Given the description of an element on the screen output the (x, y) to click on. 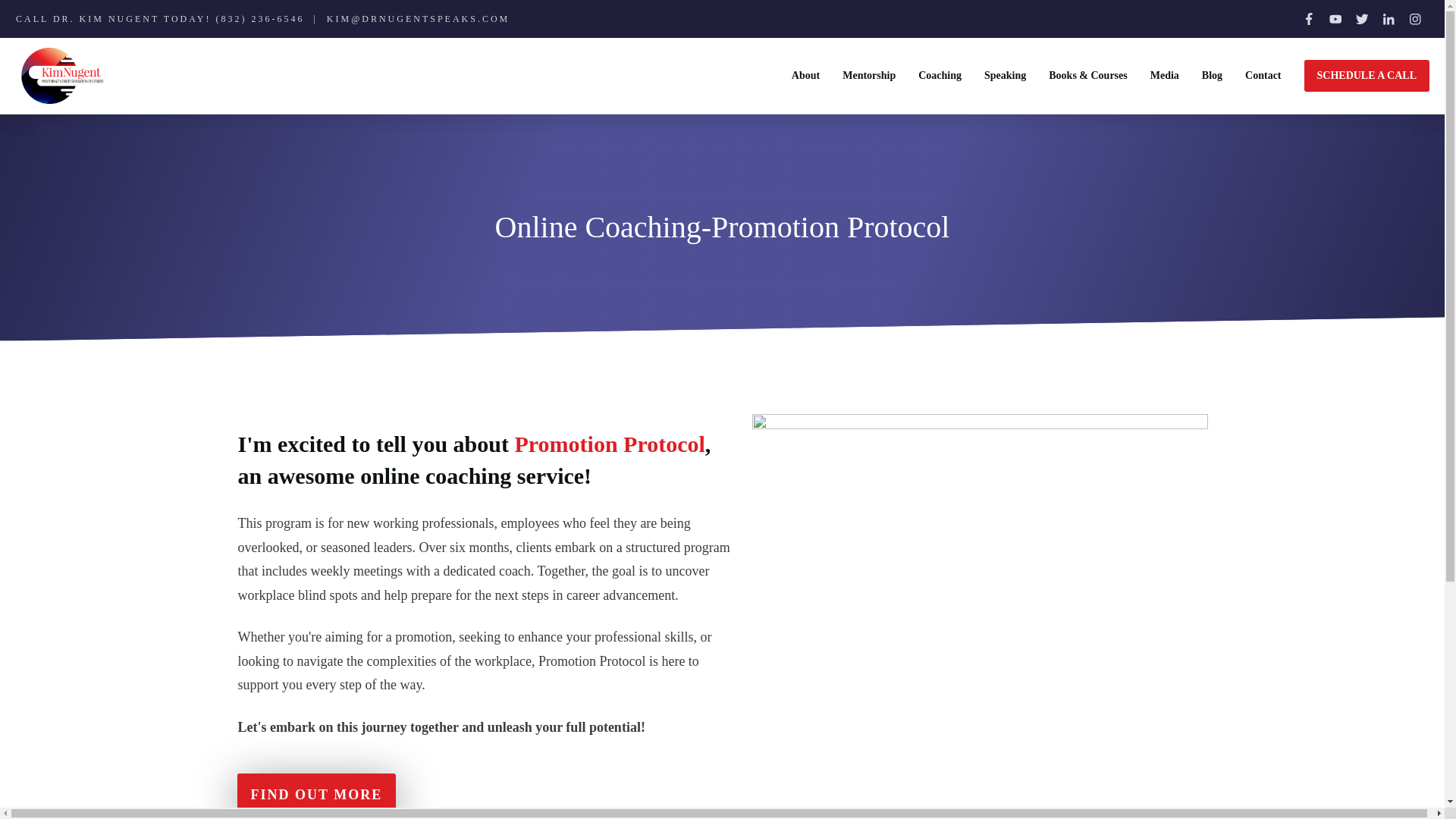
Media (1164, 75)
Speaking (1005, 75)
Coaching (939, 75)
Mentorship (869, 75)
Blog (1212, 75)
FIND OUT MORE (315, 795)
Contact (1262, 75)
About (805, 75)
SCHEDULE A CALL (1366, 75)
